Given the description of an element on the screen output the (x, y) to click on. 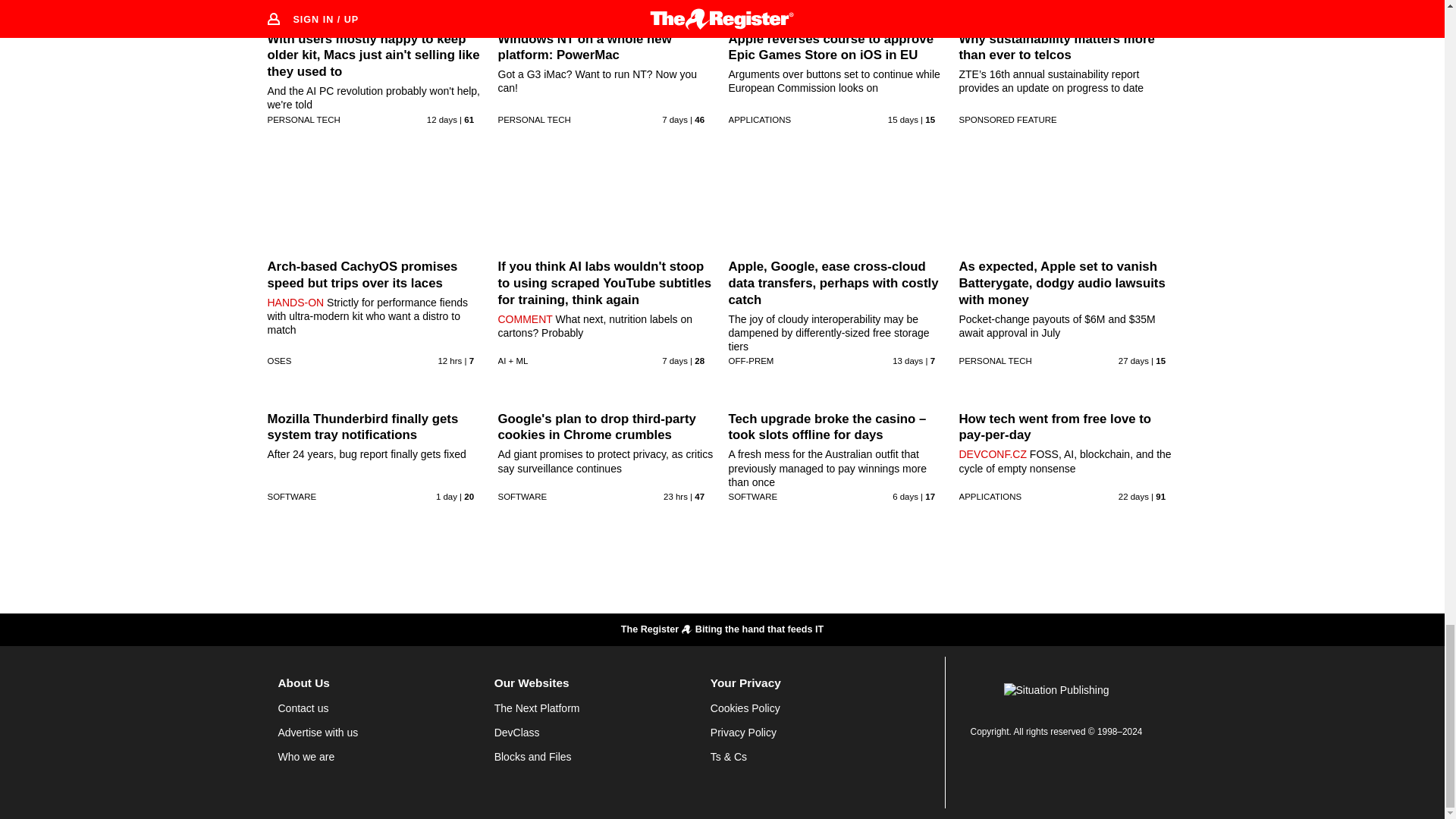
8 Jul 2024 17:4 (903, 119)
11 Jul 2024 18:4 (441, 119)
17 Jul 2024 1:42 (674, 360)
17 Jul 2024 8:34 (674, 119)
11 Jul 2024 4:34 (907, 360)
23 Jul 2024 11:27 (449, 360)
